Given the description of an element on the screen output the (x, y) to click on. 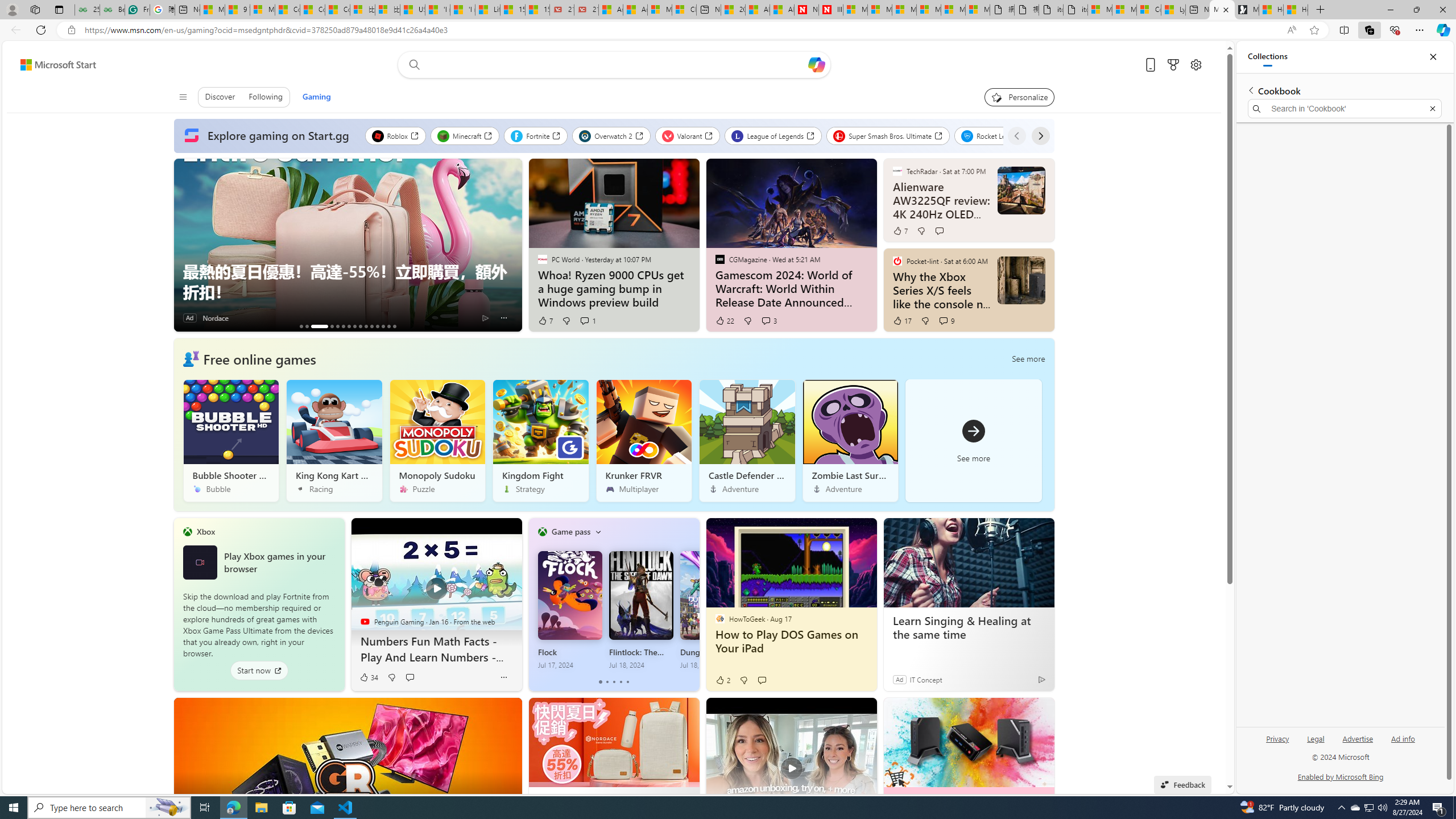
Web search (411, 64)
CGMagazine (719, 258)
Monopoly Sudoku (437, 440)
Explore gaming on Start.gg (269, 135)
Pocket-lint (897, 260)
Gaming (316, 97)
tab-1 (606, 682)
Consumer Health Data Privacy Policy (1148, 9)
Minecraft (464, 135)
USA TODAY - MSN (411, 9)
Next slide (512, 245)
Start the conversation (762, 679)
